Given the description of an element on the screen output the (x, y) to click on. 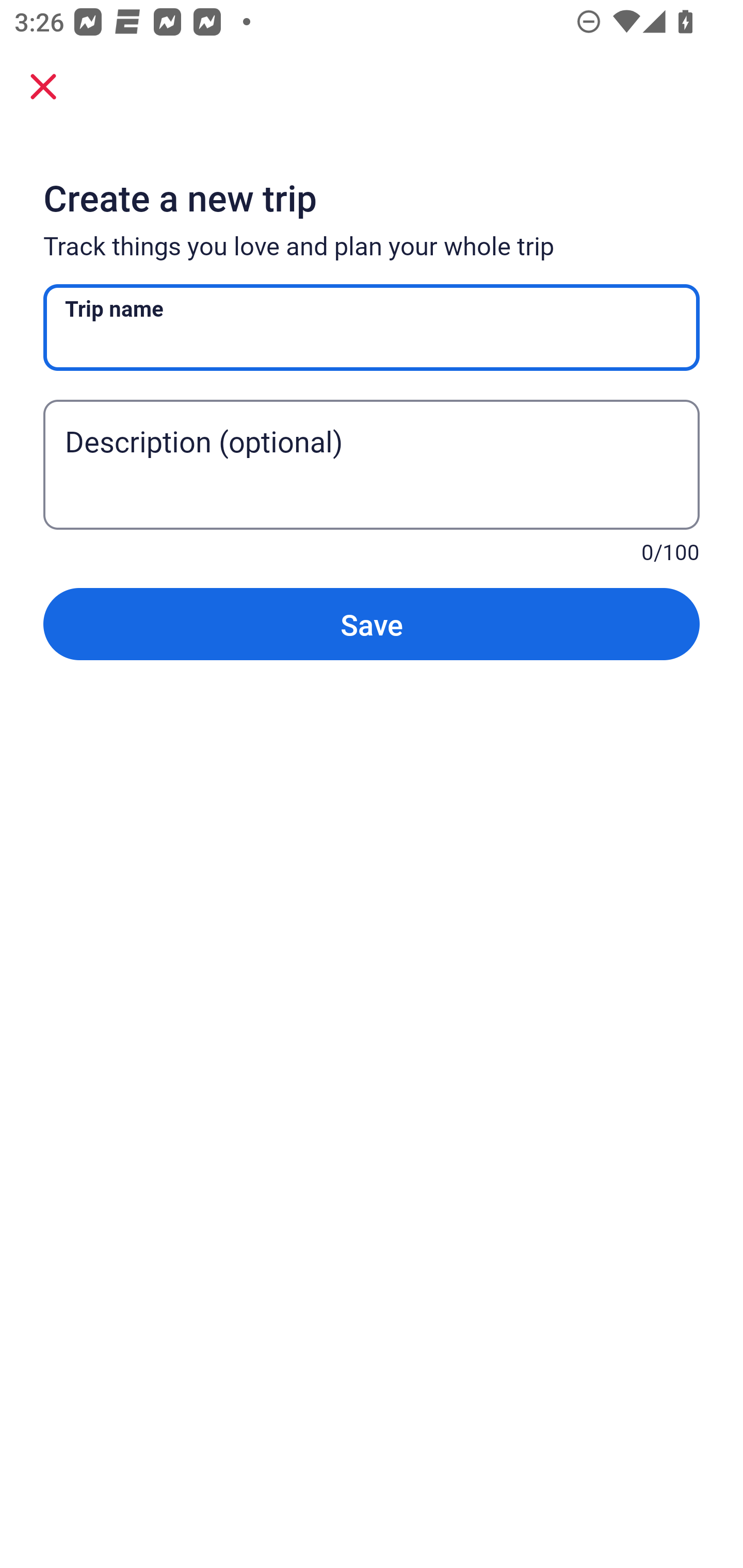
Close (43, 86)
Trip name (371, 327)
Save Button Save (371, 624)
